Given the description of an element on the screen output the (x, y) to click on. 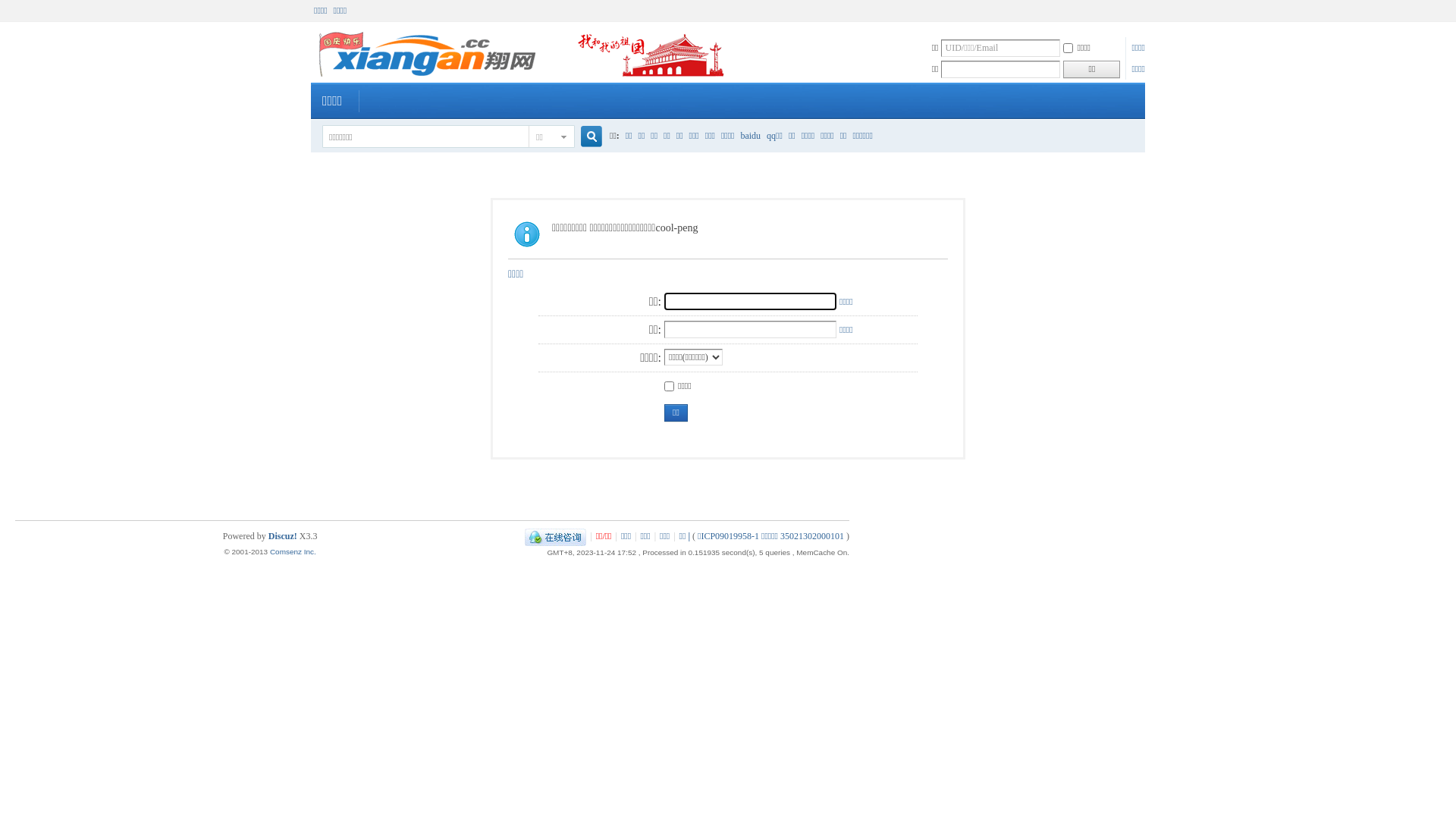
true Element type: text (585, 136)
baidu Element type: text (750, 135)
Discuz! Element type: text (282, 535)
QQ Element type: hover (555, 535)
Comsenz Inc. Element type: text (292, 551)
